Given the description of an element on the screen output the (x, y) to click on. 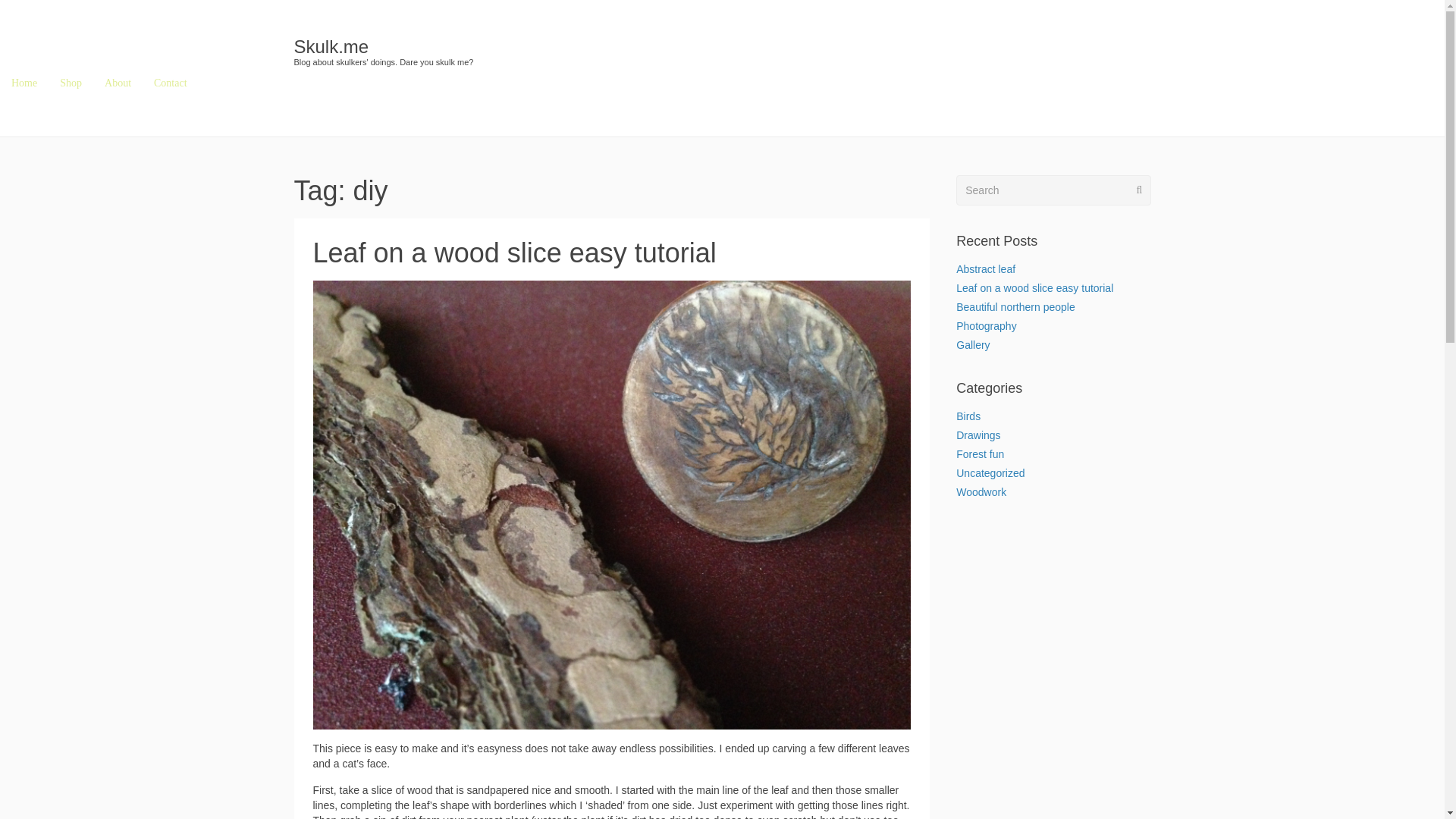
Home (24, 82)
Drawings (978, 435)
Uncategorized (990, 472)
Birds (967, 416)
Contact (170, 82)
Shop (70, 82)
Photography (986, 326)
Leaf on a wood slice easy tutorial (514, 252)
About (117, 82)
Forest fun (980, 453)
Beautiful northern people (1015, 306)
Leaf on a wood slice easy tutorial (514, 252)
Skulk.me (331, 46)
Woodwork (981, 491)
Abstract leaf (985, 268)
